Given the description of an element on the screen output the (x, y) to click on. 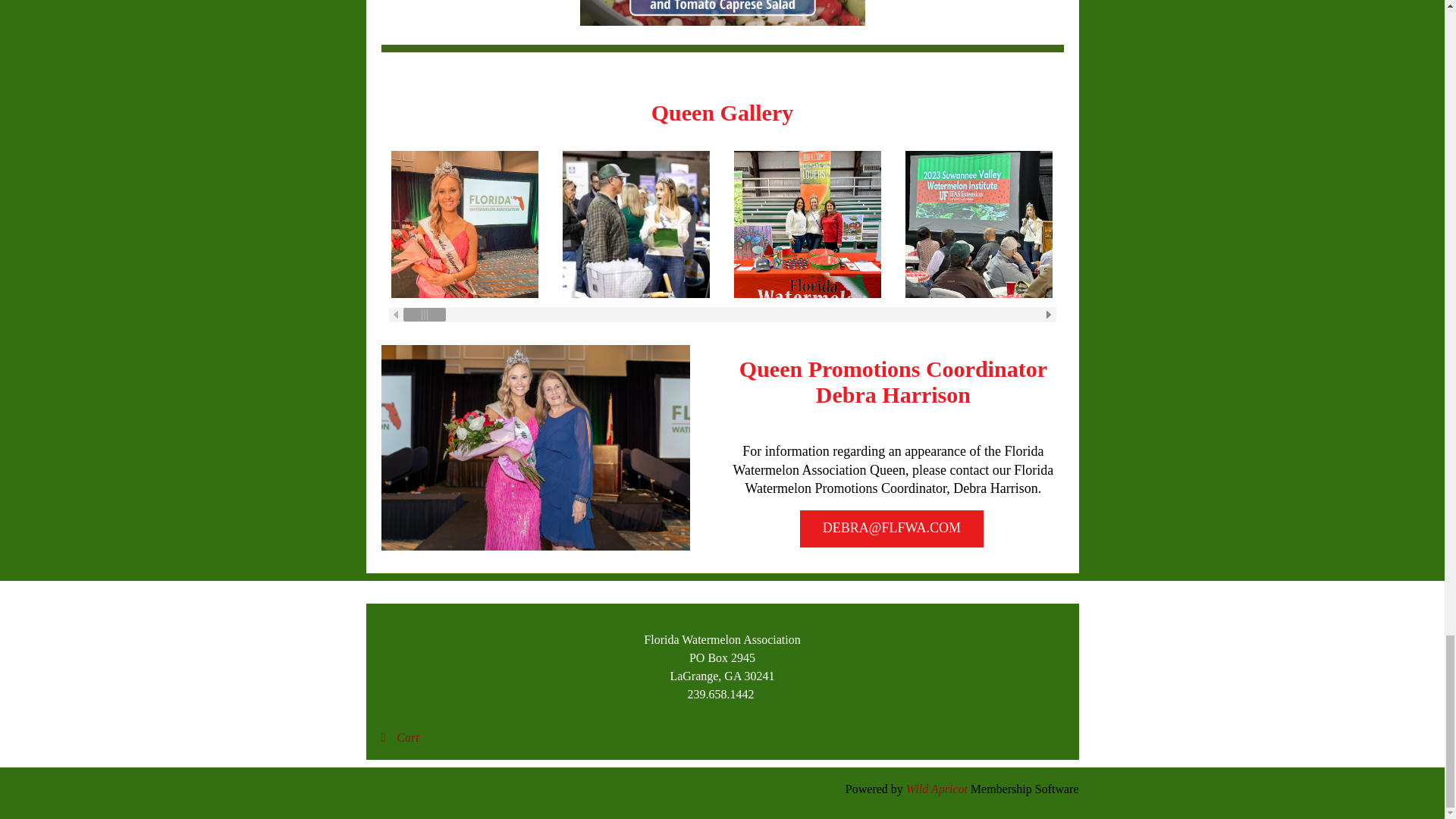
Wild Apricot (936, 788)
Cart (399, 737)
